Given the description of an element on the screen output the (x, y) to click on. 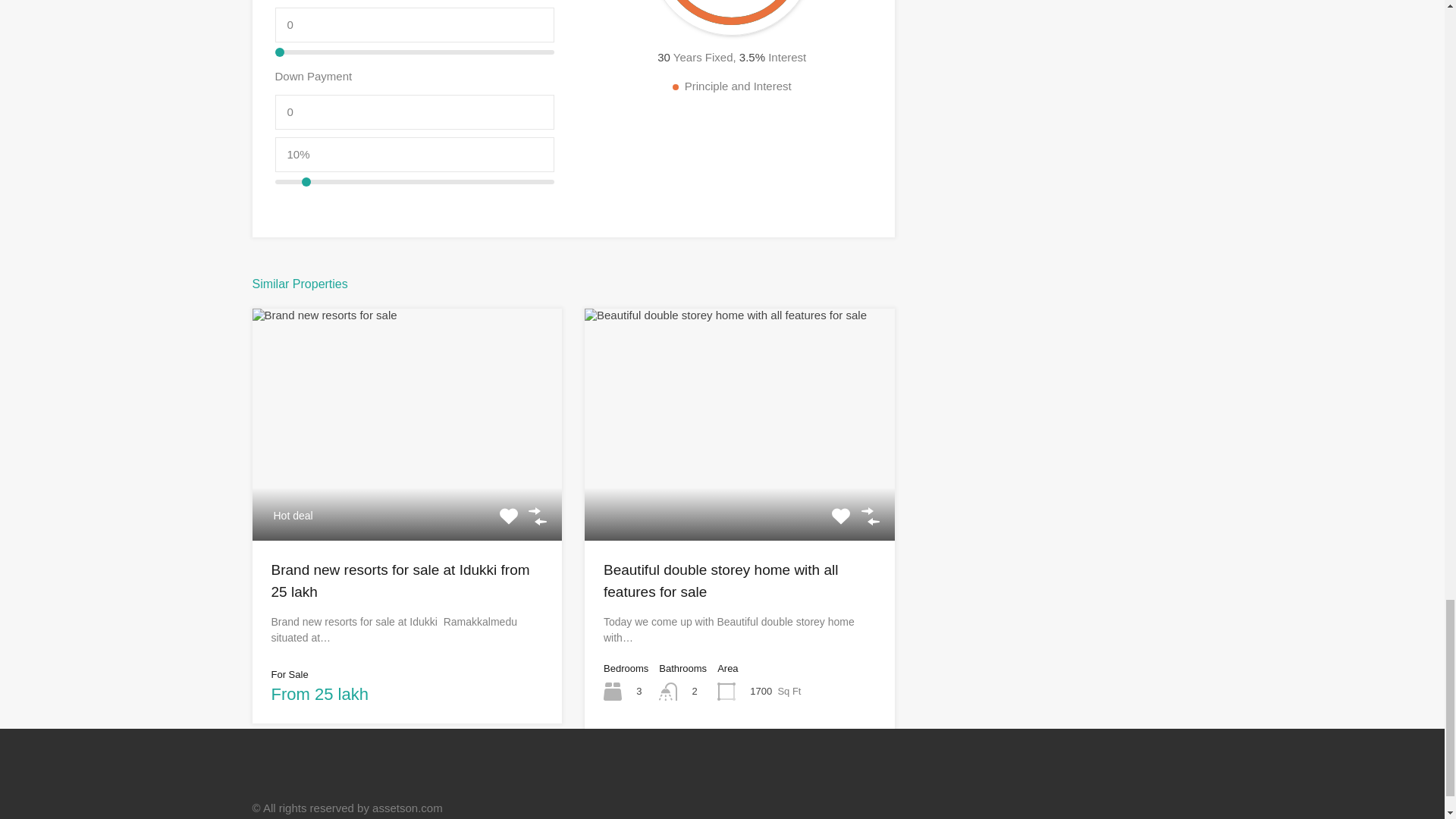
0 (414, 112)
0 (414, 24)
100000 (414, 51)
10 (414, 181)
